Given the description of an element on the screen output the (x, y) to click on. 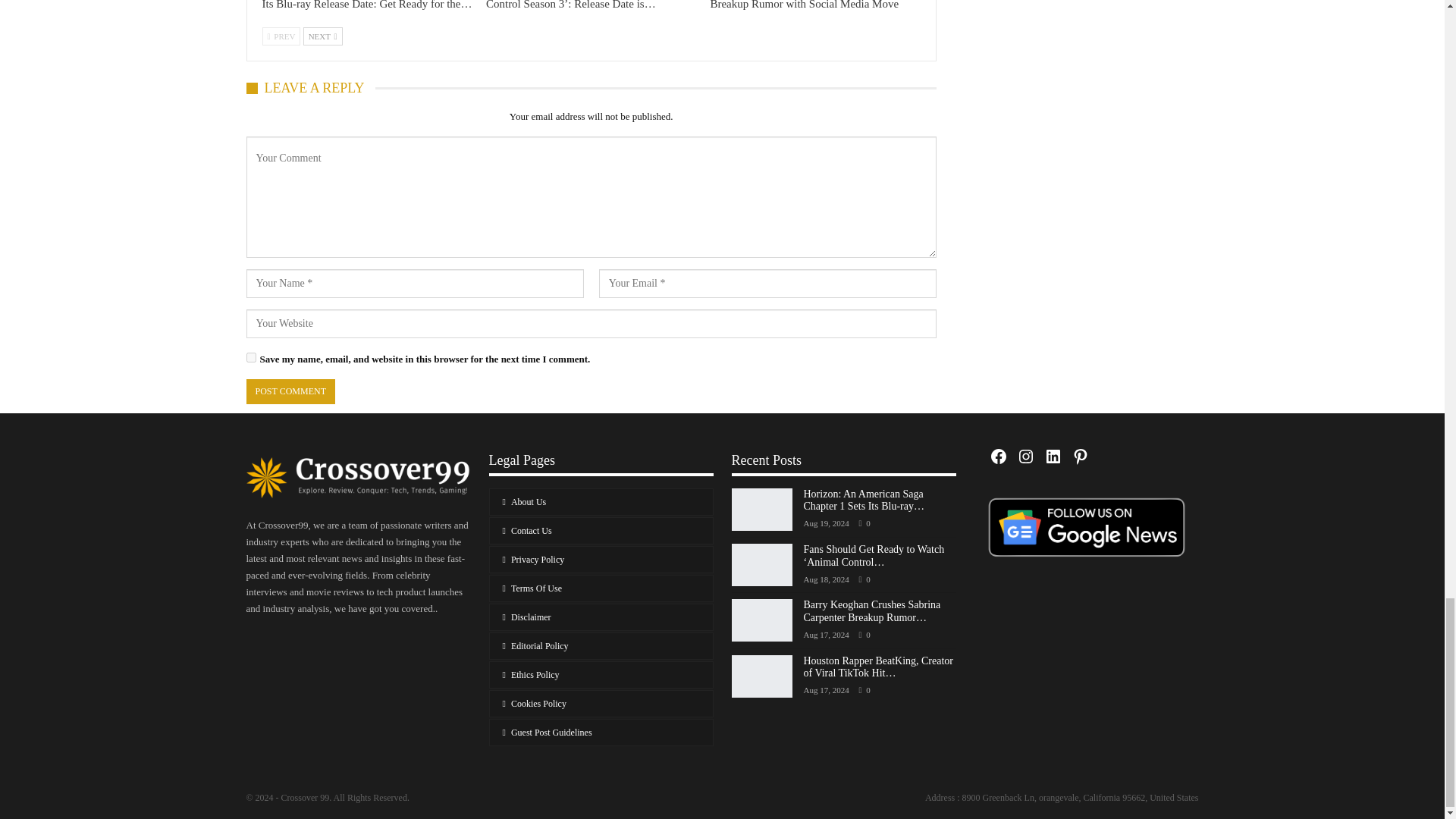
Post Comment (290, 391)
yes (251, 357)
